Given the description of an element on the screen output the (x, y) to click on. 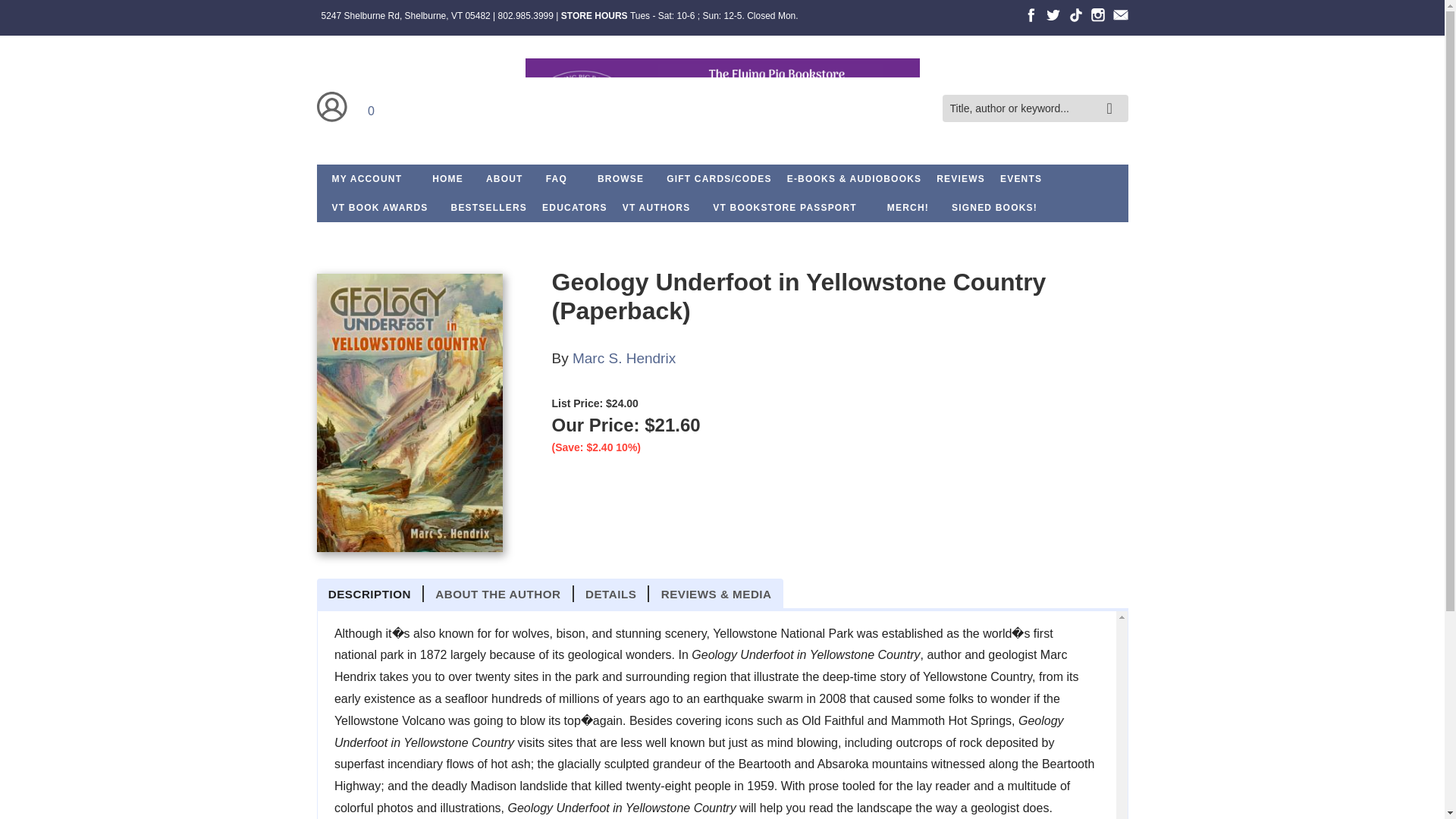
MY ACCOUNT (367, 178)
Title, author or keyword... (1034, 108)
Frequently Asked Questions (556, 178)
Gift Cards and Online Gift Code (718, 178)
FAQ (556, 178)
HOME (447, 178)
REVIEWS (960, 178)
BROWSE (620, 178)
search (1112, 96)
Bestsellers are the store! (489, 207)
search (1112, 96)
BESTSELLERS (489, 207)
ABOUT (505, 178)
Home (721, 107)
